Given the description of an element on the screen output the (x, y) to click on. 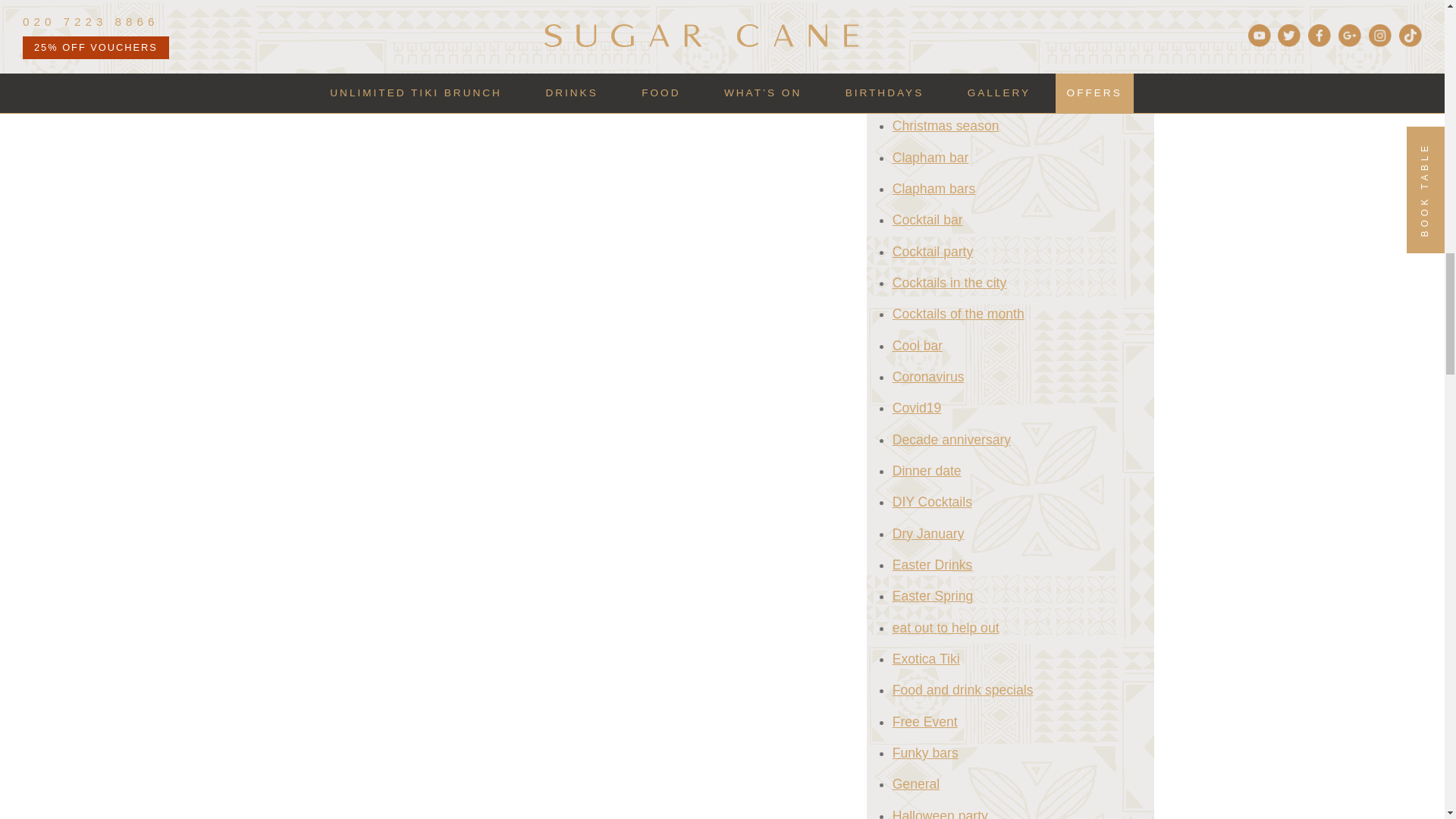
Themed parties (582, 21)
Lockdown (810, 4)
Best bars London (402, 4)
Covid19 (698, 4)
Tiki Cocktails (658, 21)
Themed birthdays (494, 21)
Rum lovers (418, 21)
Tiki Love Party (732, 21)
Exotica Tiki (752, 4)
Coronavirus (642, 4)
